Given the description of an element on the screen output the (x, y) to click on. 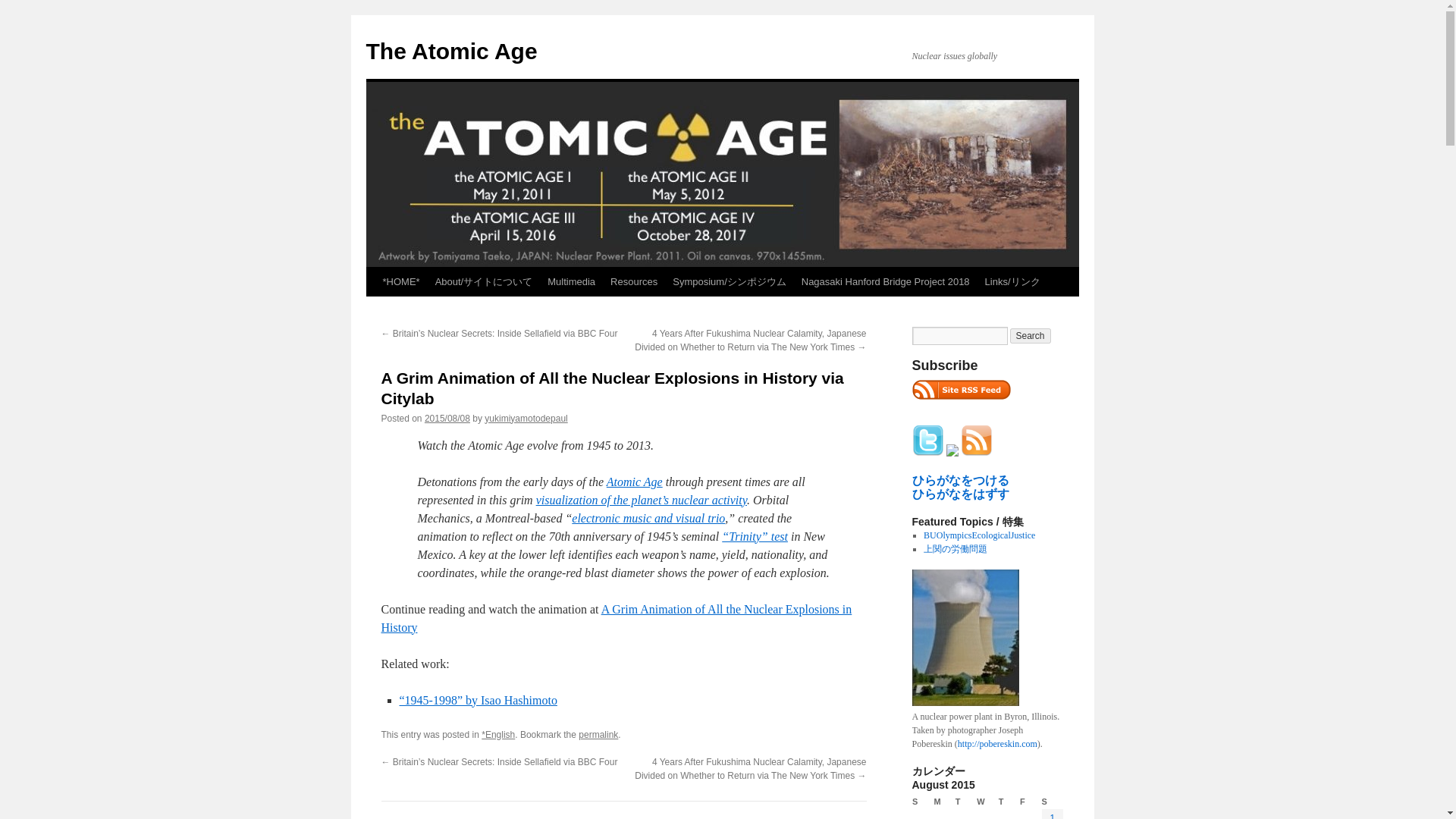
Skip to content (372, 309)
Atomic Age (634, 481)
Resources (633, 281)
TokyoOlympicsEcologicalJustice (979, 534)
Sunday (922, 801)
View all posts by yukimiyamotodepaul (525, 418)
permalink (597, 734)
The Atomic Age (451, 50)
8:15 am (447, 418)
A Grim Animation of All the Nuclear Explosions in History (615, 617)
electronic music and visual trio (648, 517)
Search (1030, 335)
RSS 2.0 feed for posts (960, 403)
yukimiyamotodepaul (525, 418)
